Given the description of an element on the screen output the (x, y) to click on. 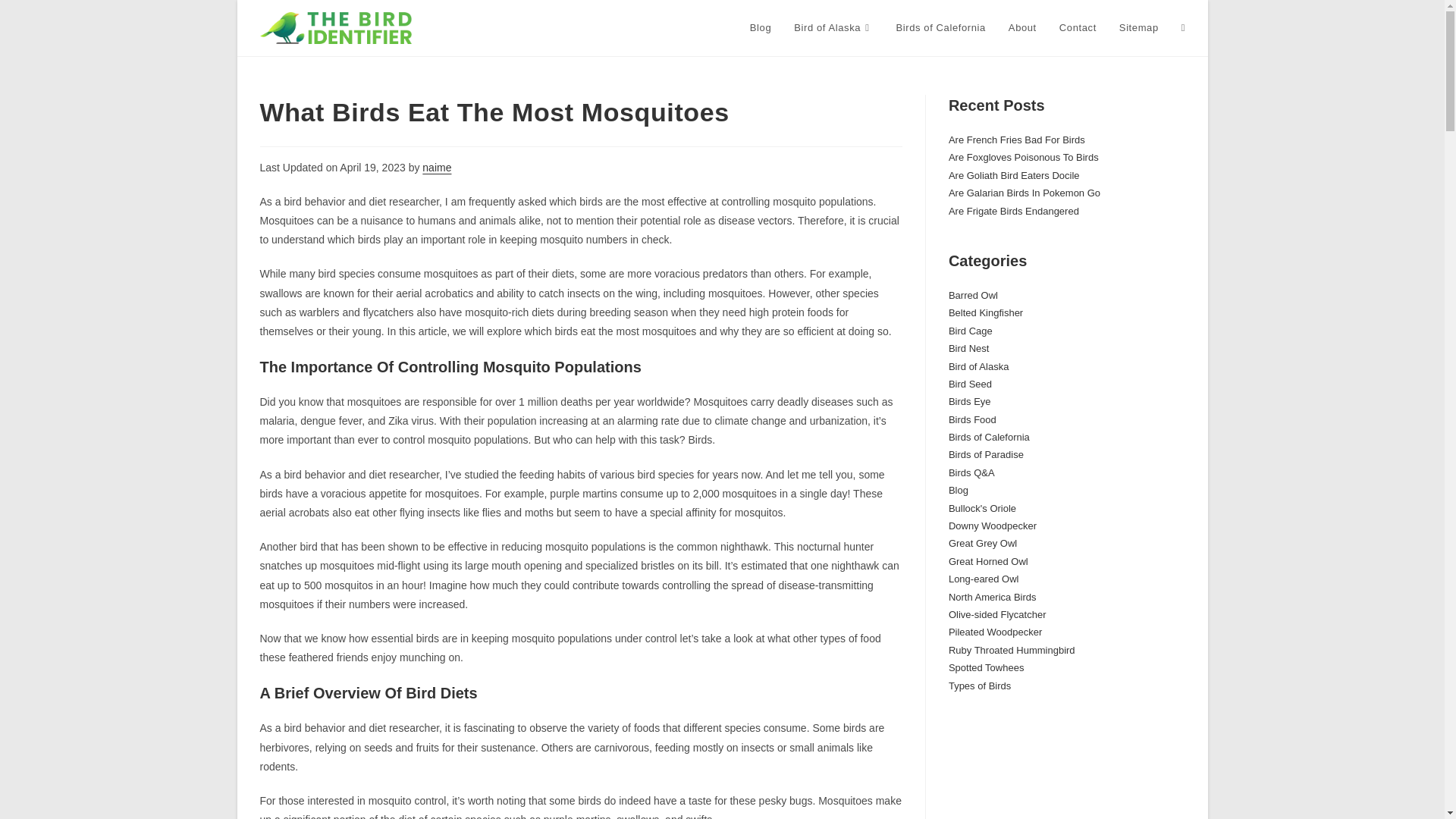
Contact (1078, 28)
Are Foxgloves Poisonous To Birds (1024, 156)
Belted Kingfisher (986, 312)
Birds of Calefornia (941, 28)
naime (436, 167)
Sitemap (1139, 28)
Are Frigate Birds Endangered (1013, 211)
Bird of Alaska (979, 366)
Are Galarian Birds In Pokemon Go (1024, 193)
Bird Cage (970, 330)
